Given the description of an element on the screen output the (x, y) to click on. 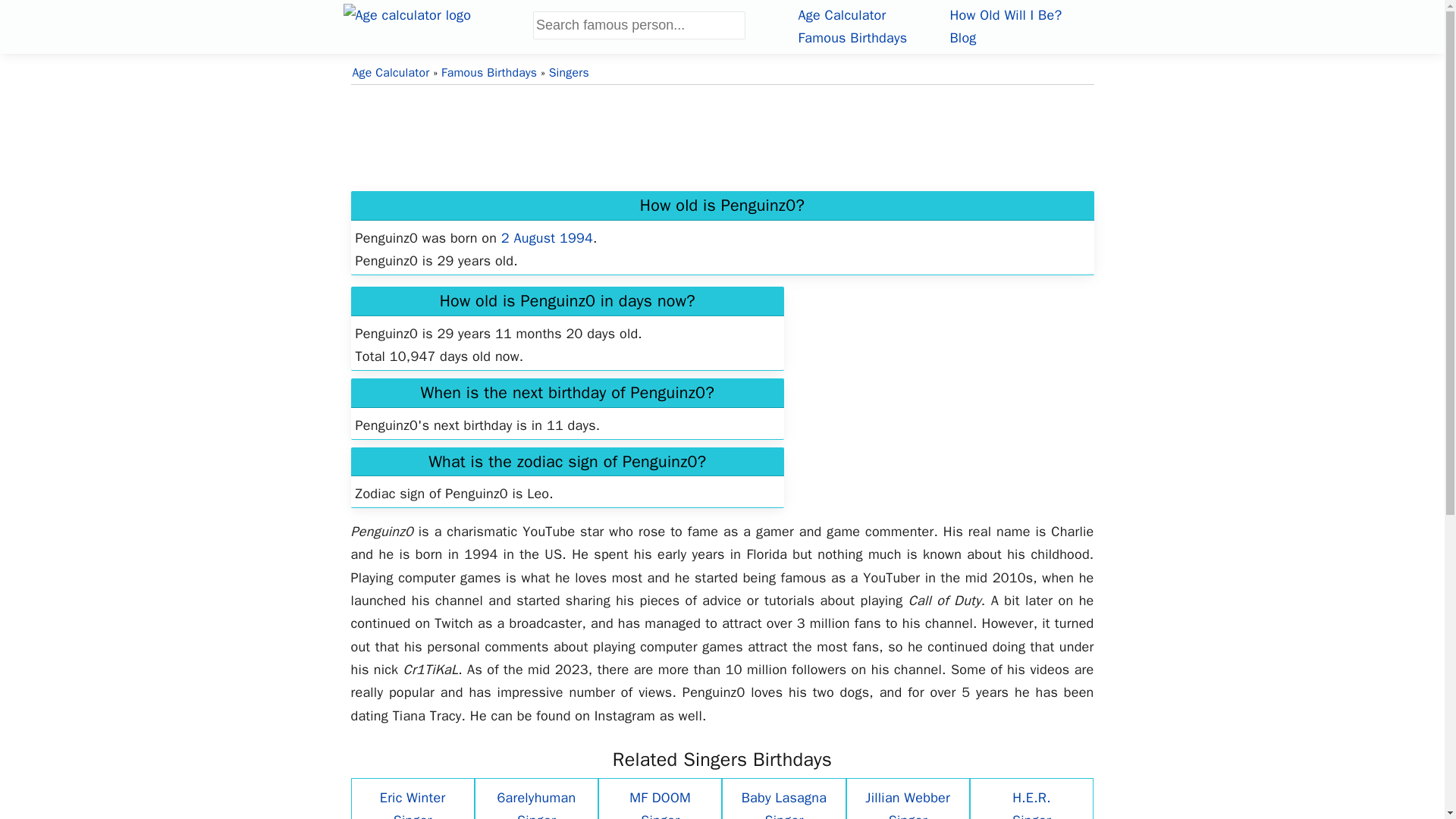
Singers (568, 72)
Age Calculator (390, 72)
Age Calculator (437, 24)
Famous Birthdays (489, 72)
Age Calculator Blog (962, 37)
Famous Birthdays (852, 37)
Age Calculator (841, 14)
How Old Will I Be In The Future? (1005, 14)
Blog (962, 37)
Age Calculator (841, 14)
Famous Birthdays (852, 37)
How Old Will I Be? (1005, 14)
August 2 Famous Birthdays (546, 238)
2 August 1994 (546, 238)
